Given the description of an element on the screen output the (x, y) to click on. 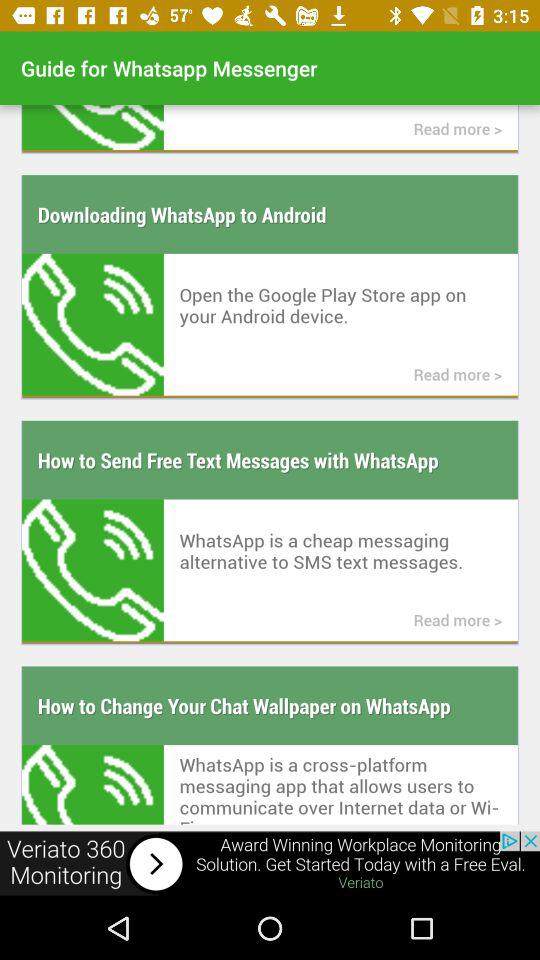
open link to advertisement web page (270, 864)
